Given the description of an element on the screen output the (x, y) to click on. 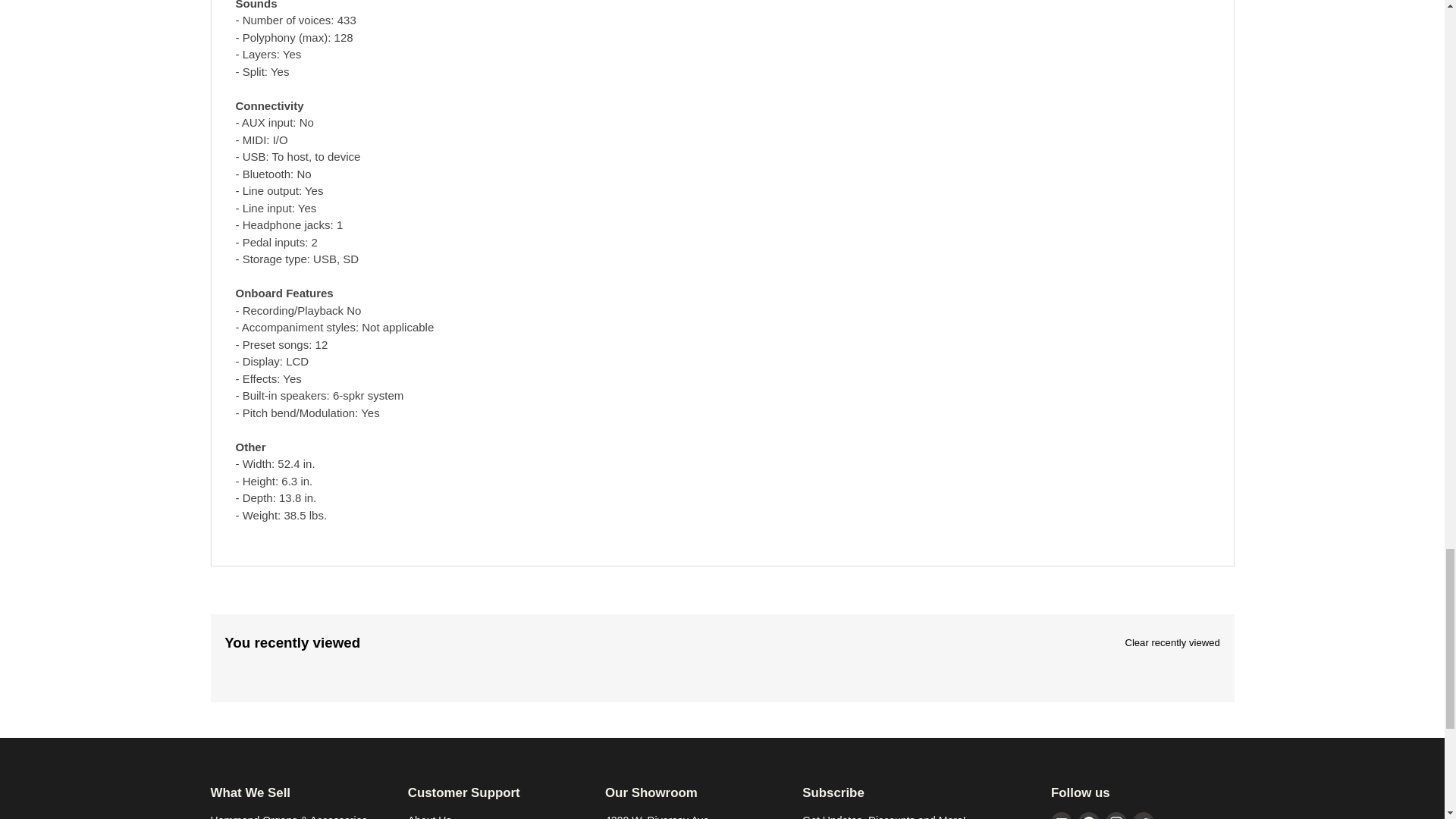
Facebook (1088, 815)
Instagram (1115, 815)
Email (1061, 815)
Twitter (1143, 815)
